Given the description of an element on the screen output the (x, y) to click on. 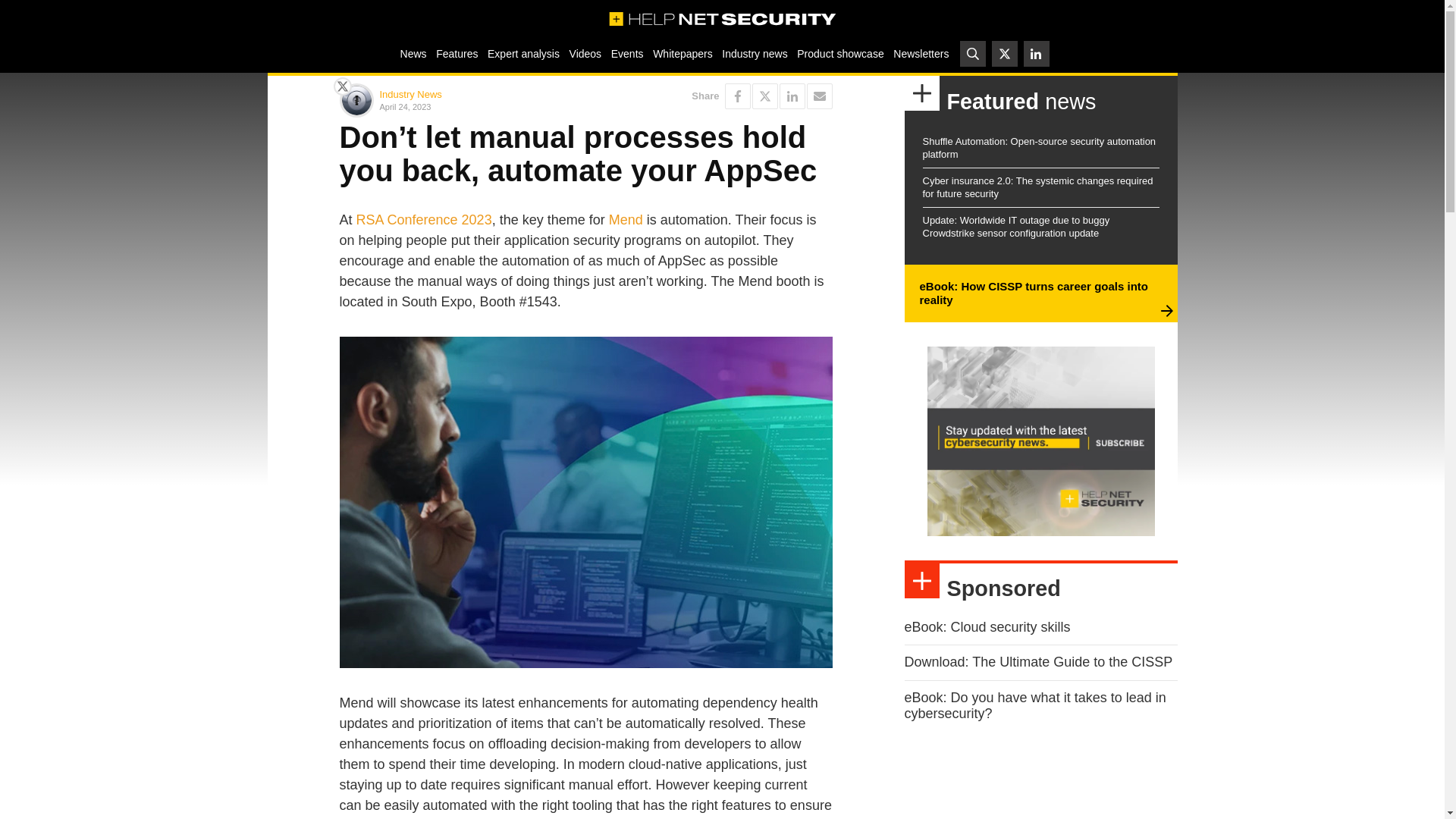
Shuffle Automation: Open-source security automation platform (1038, 147)
Download: The Ultimate Guide to the CISSP (1038, 661)
Industry news (754, 53)
Mend (625, 219)
Whitepapers (682, 53)
eBook: Do you have what it takes to lead in cybersecurity? (1035, 705)
eBook: Cloud security skills (987, 626)
Product showcase (840, 53)
Videos (584, 53)
Newsletters (920, 53)
Expert analysis (523, 53)
April 24, 2023 (478, 106)
